Given the description of an element on the screen output the (x, y) to click on. 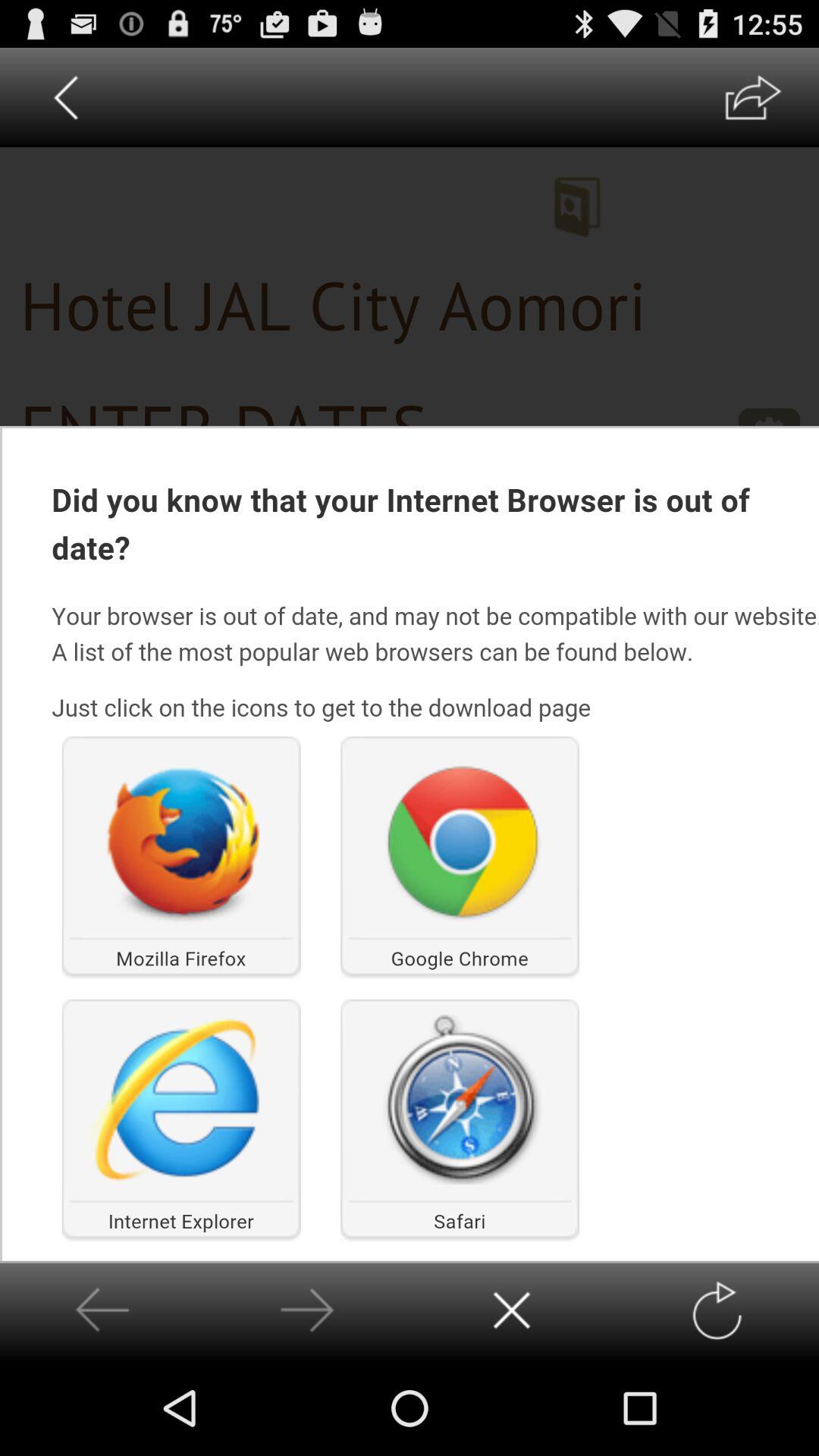
move to the next screen (306, 1310)
